Given the description of an element on the screen output the (x, y) to click on. 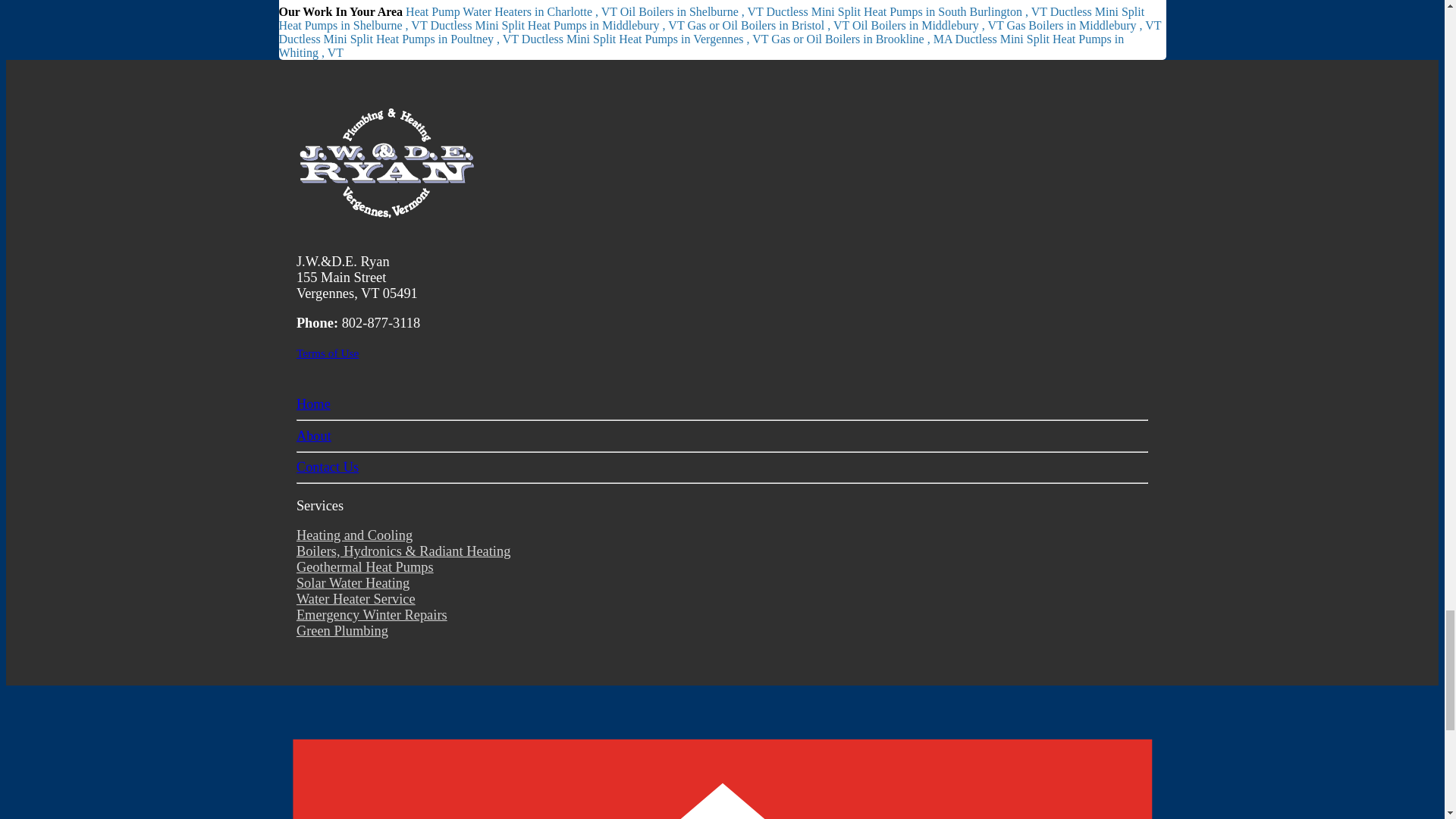
Oil Boilers in Shelburne , VT (693, 11)
Ductless Mini Split Heat Pumps in Middlebury , VT (558, 24)
Oil Boilers in Middlebury , VT (928, 24)
Heat Pump Water Heaters in Charlotte , VT (513, 11)
Ductless Mini Split Heat Pumps in South Burlington , VT (908, 11)
Ductless Mini Split Heat Pumps in Shelburne , VT (711, 17)
Gas or Oil Boilers in Bristol , VT (769, 24)
